Given the description of an element on the screen output the (x, y) to click on. 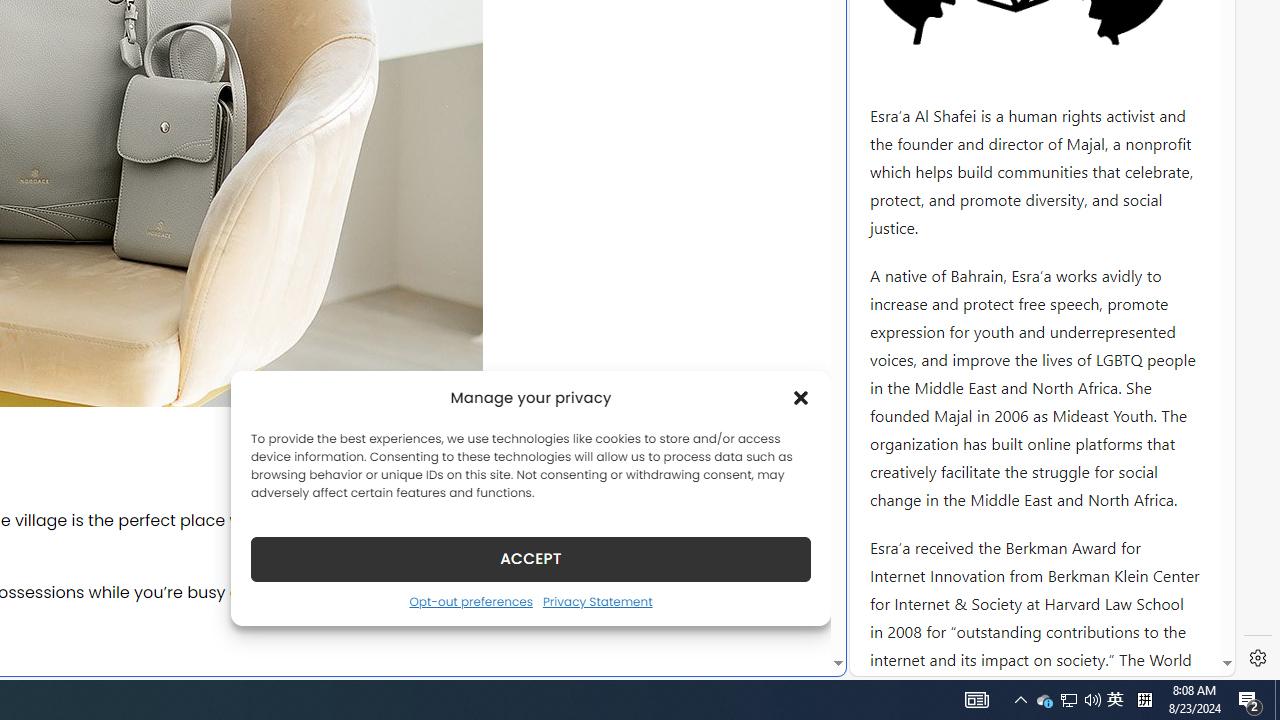
Opt-out preferences (470, 601)
Class: cmplz-close (801, 397)
